Given the description of an element on the screen output the (x, y) to click on. 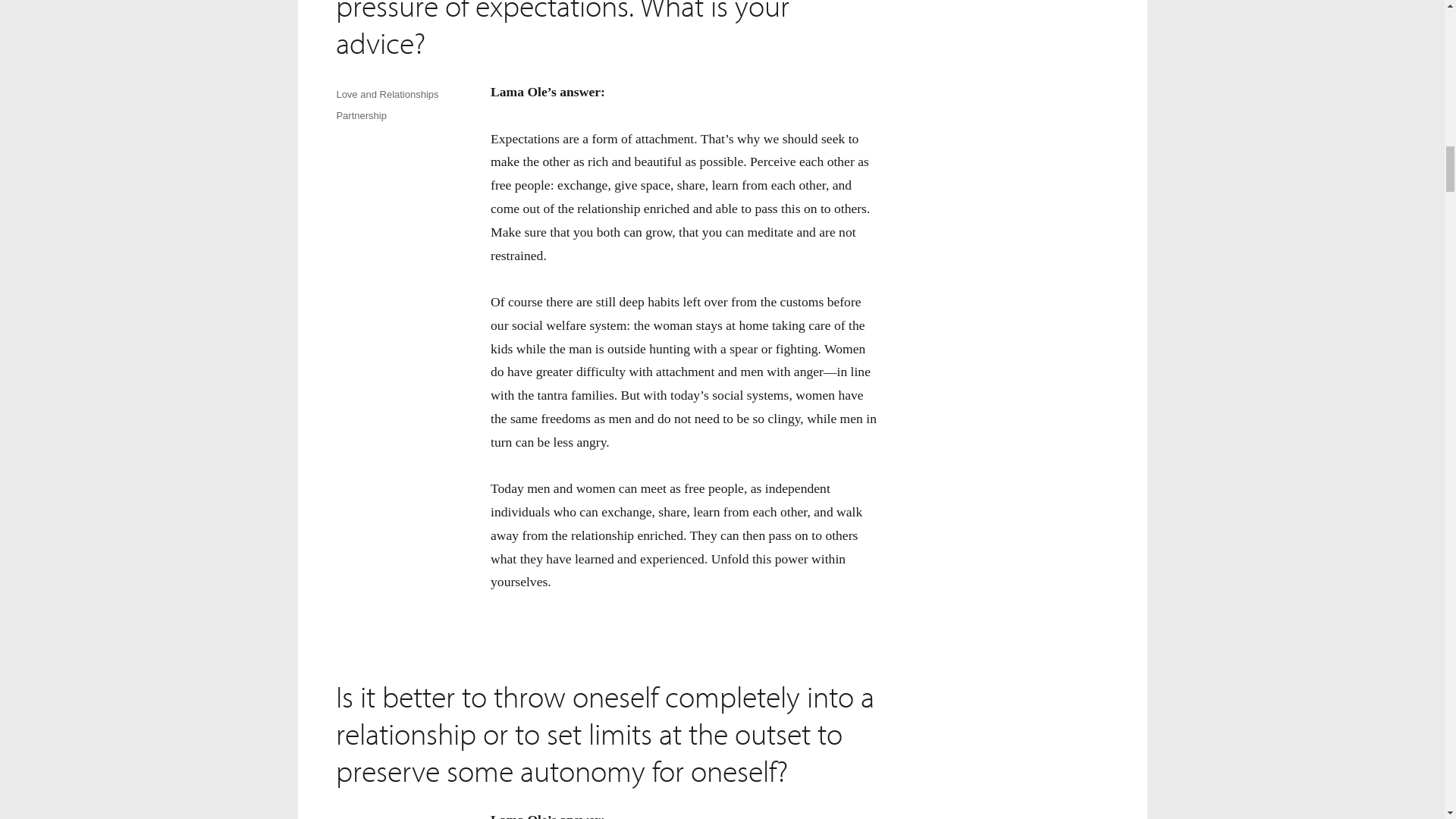
Love and Relationships (387, 817)
Love and Relationships (387, 93)
Partnership (360, 115)
